Given the description of an element on the screen output the (x, y) to click on. 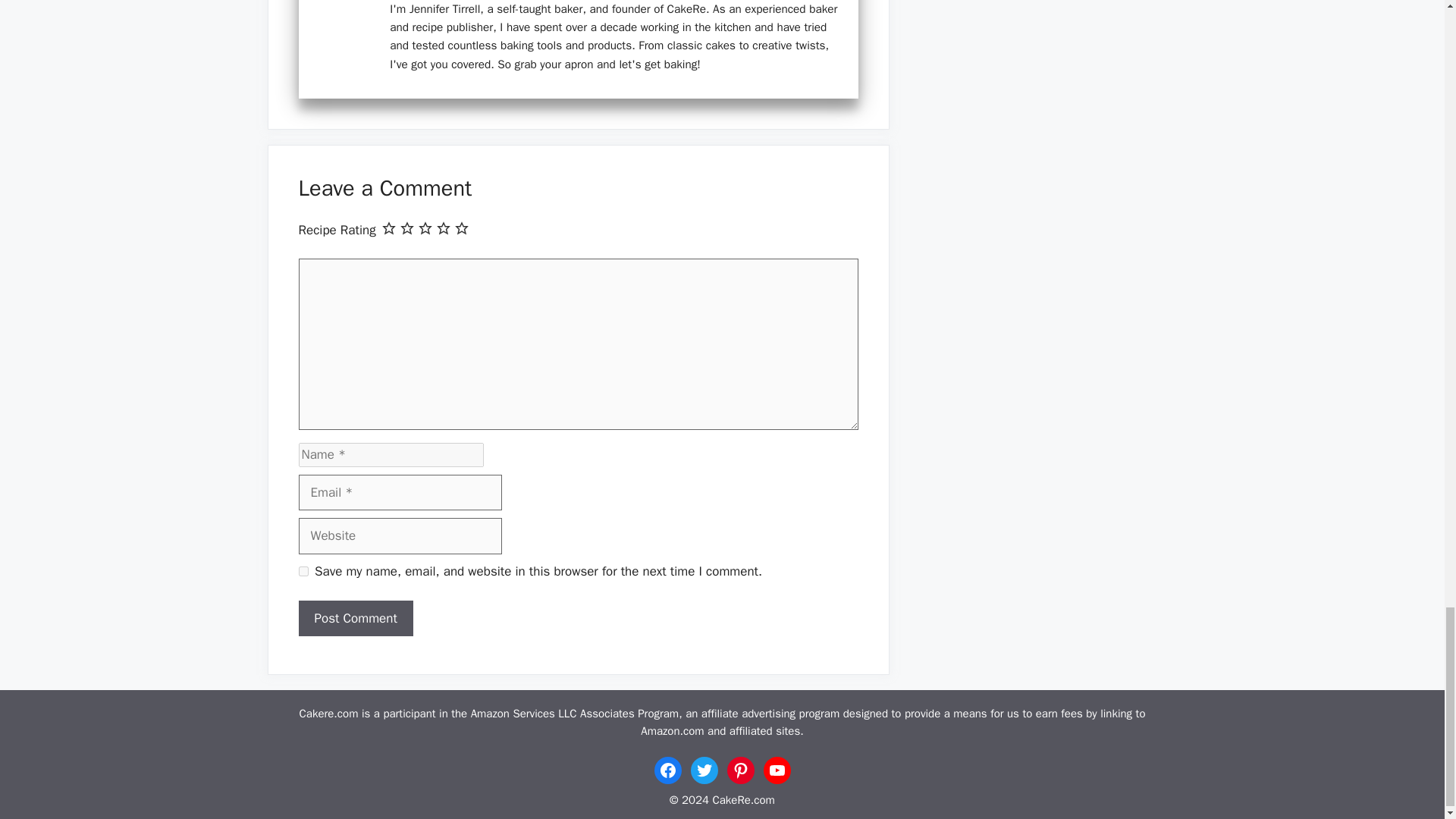
YouTube (776, 769)
Post Comment (355, 618)
Pinterest (740, 769)
Twitter (703, 769)
yes (303, 571)
Facebook (667, 769)
Post Comment (355, 618)
